Given the description of an element on the screen output the (x, y) to click on. 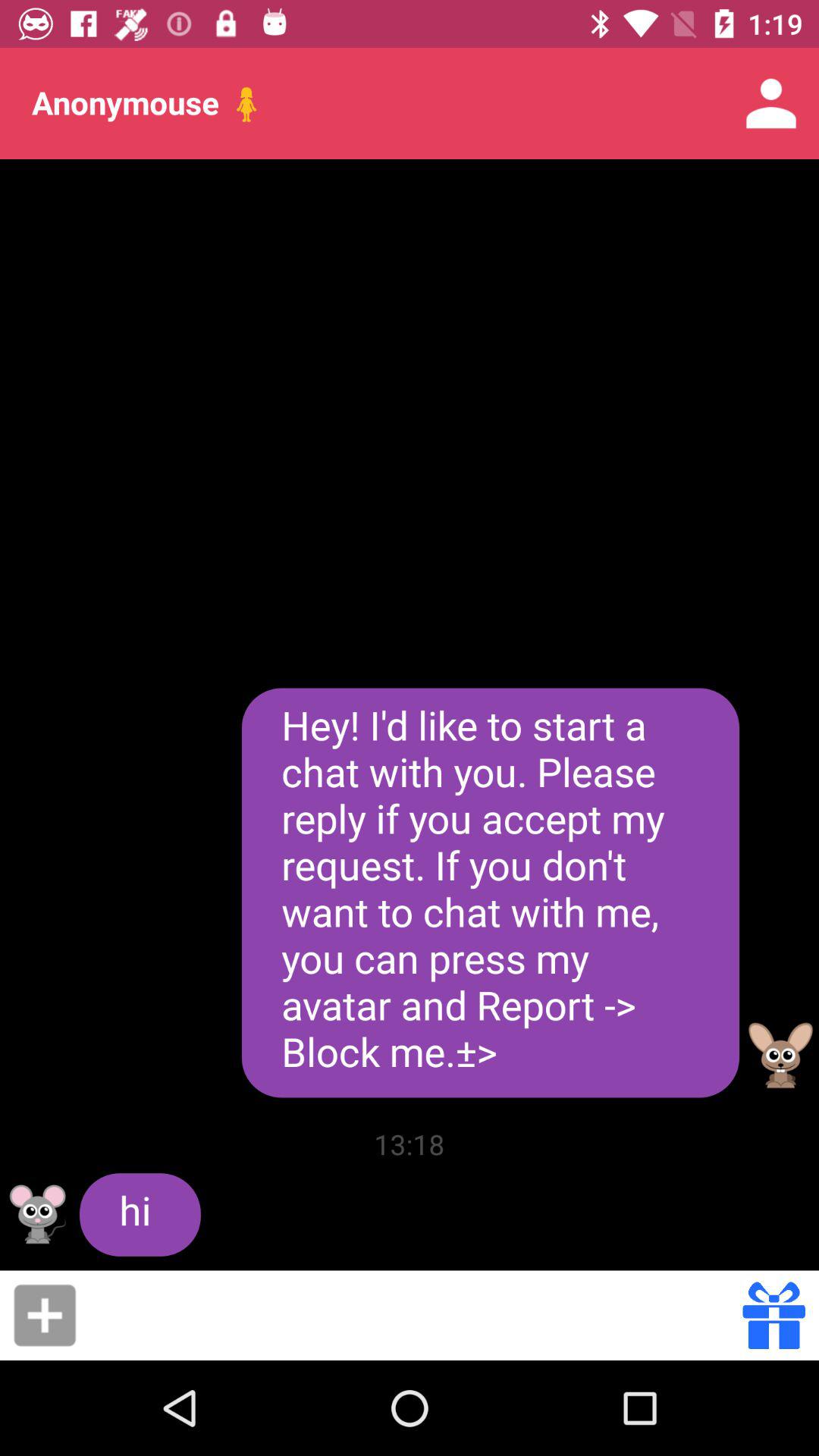
click the profile option on the top right corner (771, 103)
click on the gift icon (774, 1315)
click on the brown mouse emoji (780, 1055)
